Given the description of an element on the screen output the (x, y) to click on. 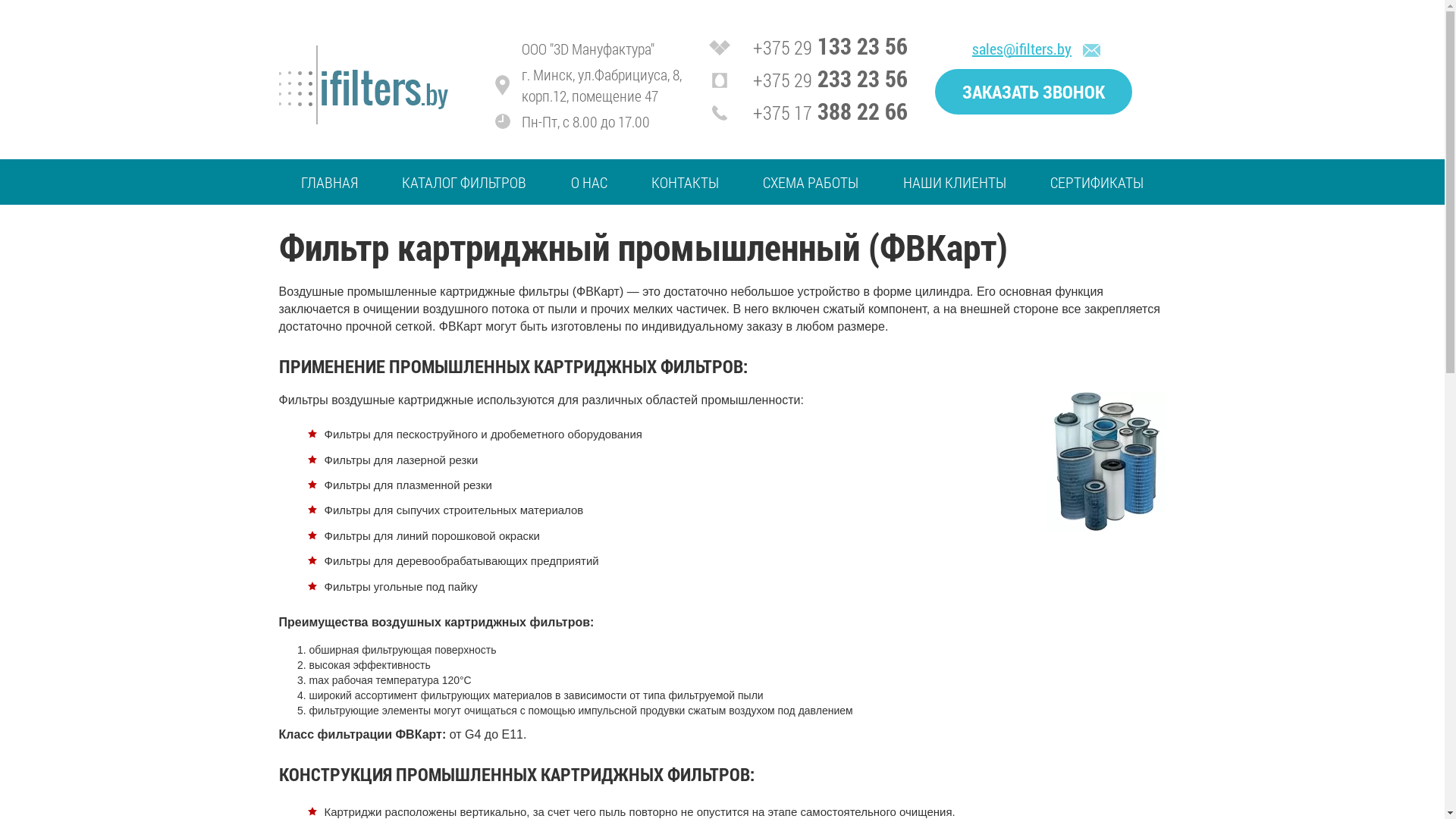
sales@ifilters.by Element type: text (1021, 48)
